Given the description of an element on the screen output the (x, y) to click on. 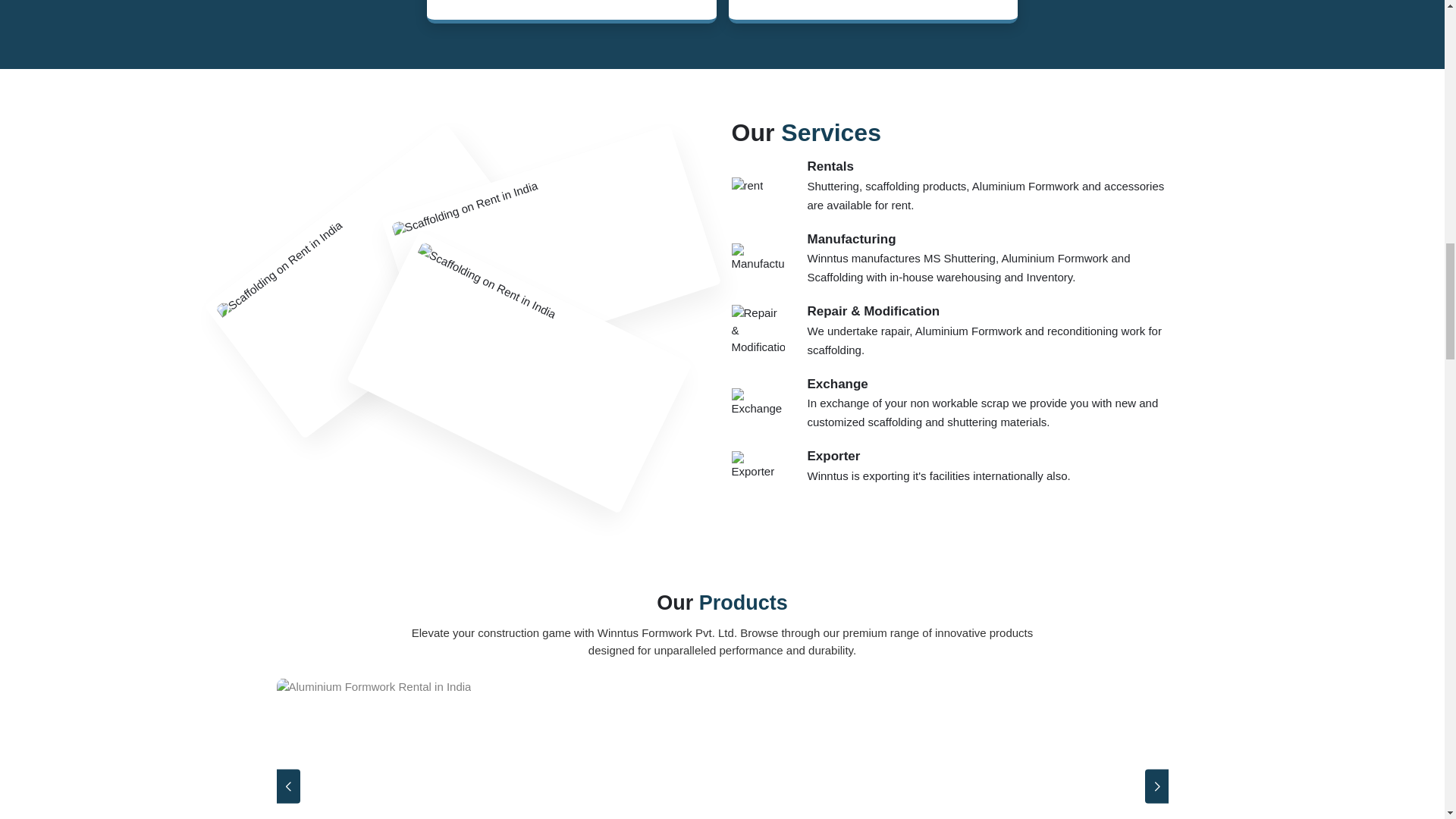
Aluminium Formwork Rental (721, 748)
